Given the description of an element on the screen output the (x, y) to click on. 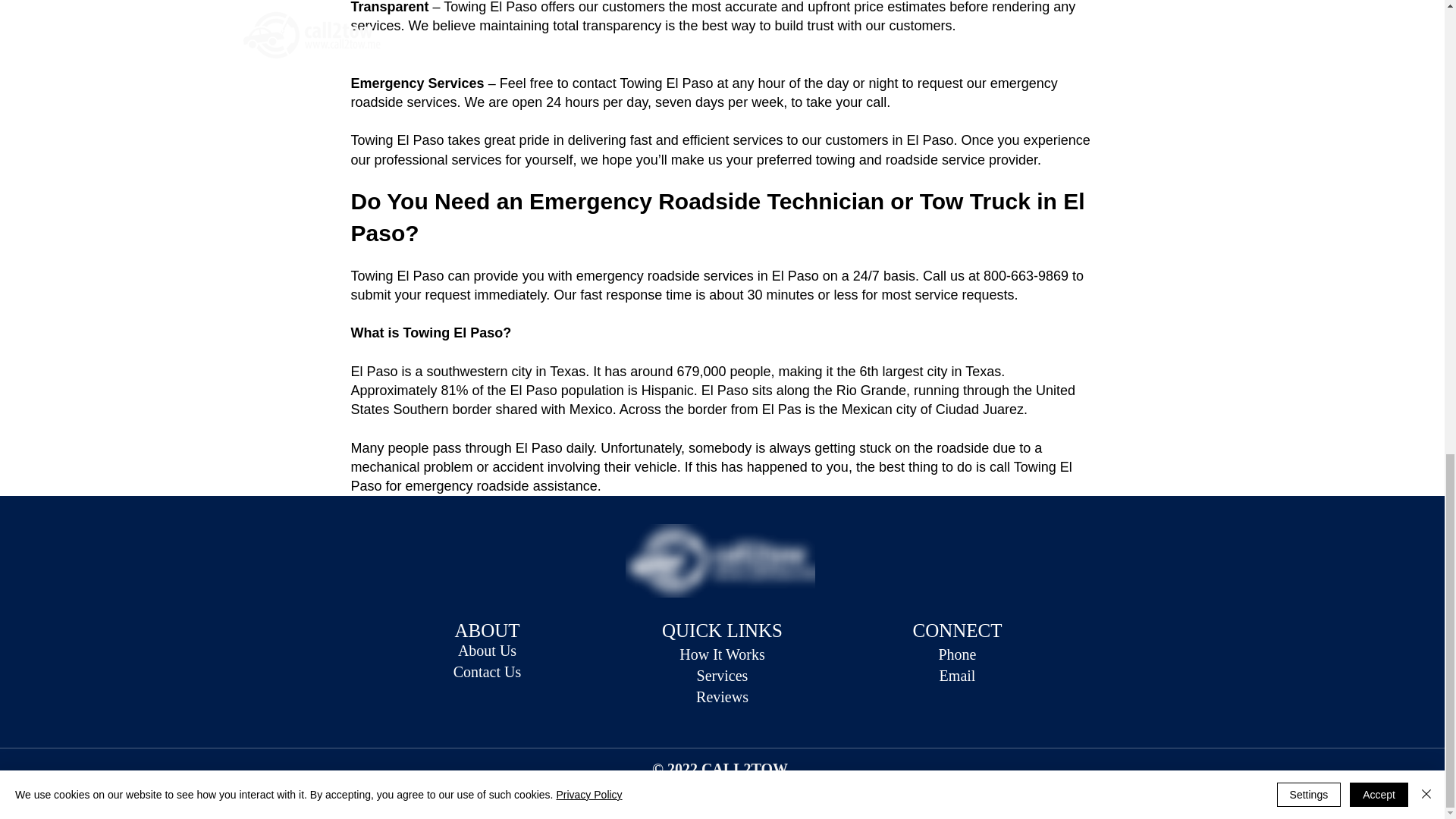
How It Works (721, 654)
ACCESSIBILITY POLICY (762, 791)
About Us (487, 650)
Reviews (721, 696)
Services (722, 675)
PRIVACY POLICY (673, 783)
Email (957, 675)
Call2Tow (718, 560)
Phone (957, 654)
Contact Us (486, 671)
